Given the description of an element on the screen output the (x, y) to click on. 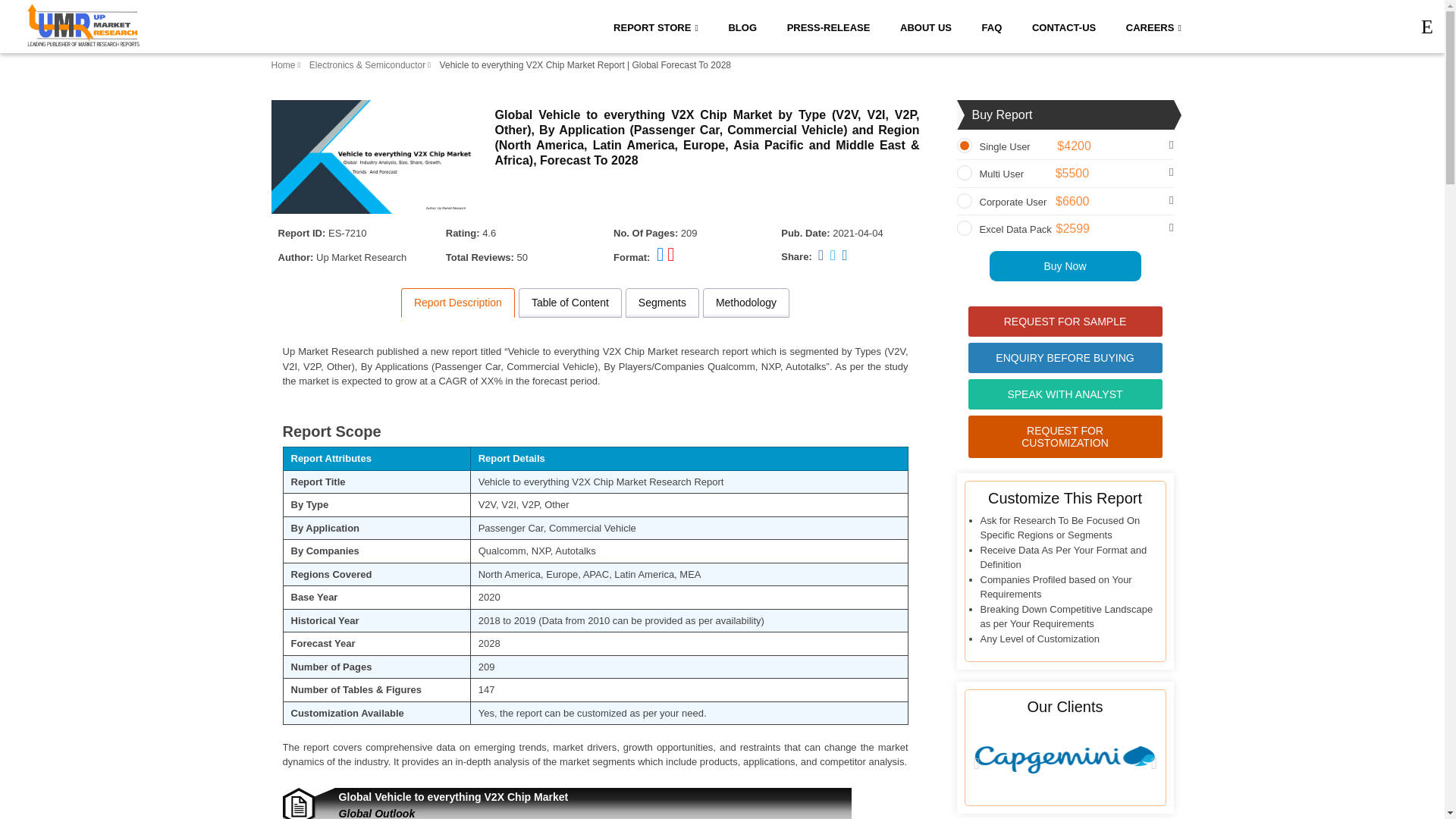
ABOUT US (925, 25)
CAREERS (1153, 25)
PRESS-RELEASE (828, 25)
REPORT STORE (655, 25)
Capgemini (1064, 759)
CONTACT-US (1063, 25)
BLOG (742, 25)
FAQ (992, 25)
